Given the description of an element on the screen output the (x, y) to click on. 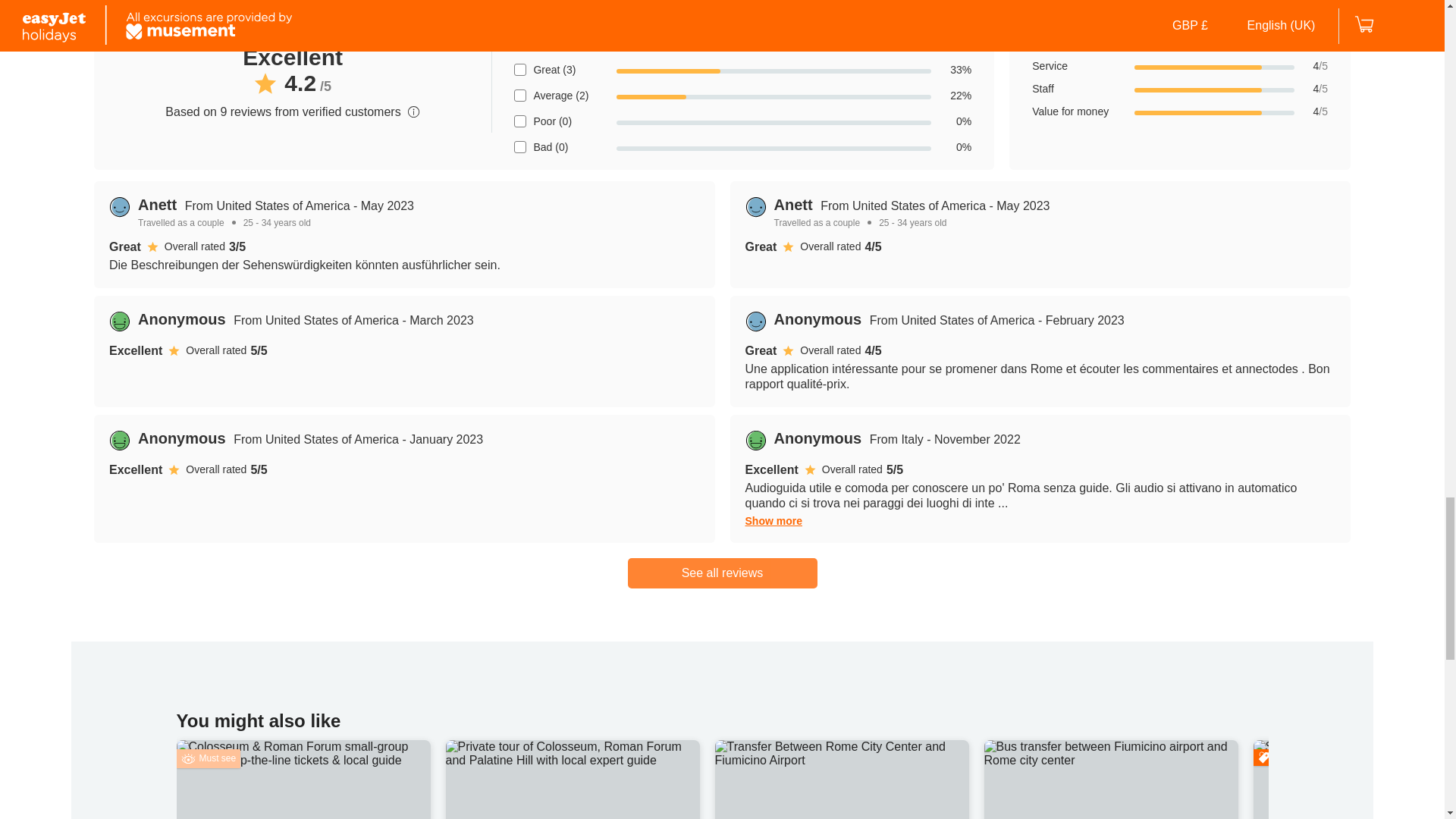
Show more (773, 521)
See all reviews (721, 572)
